Given the description of an element on the screen output the (x, y) to click on. 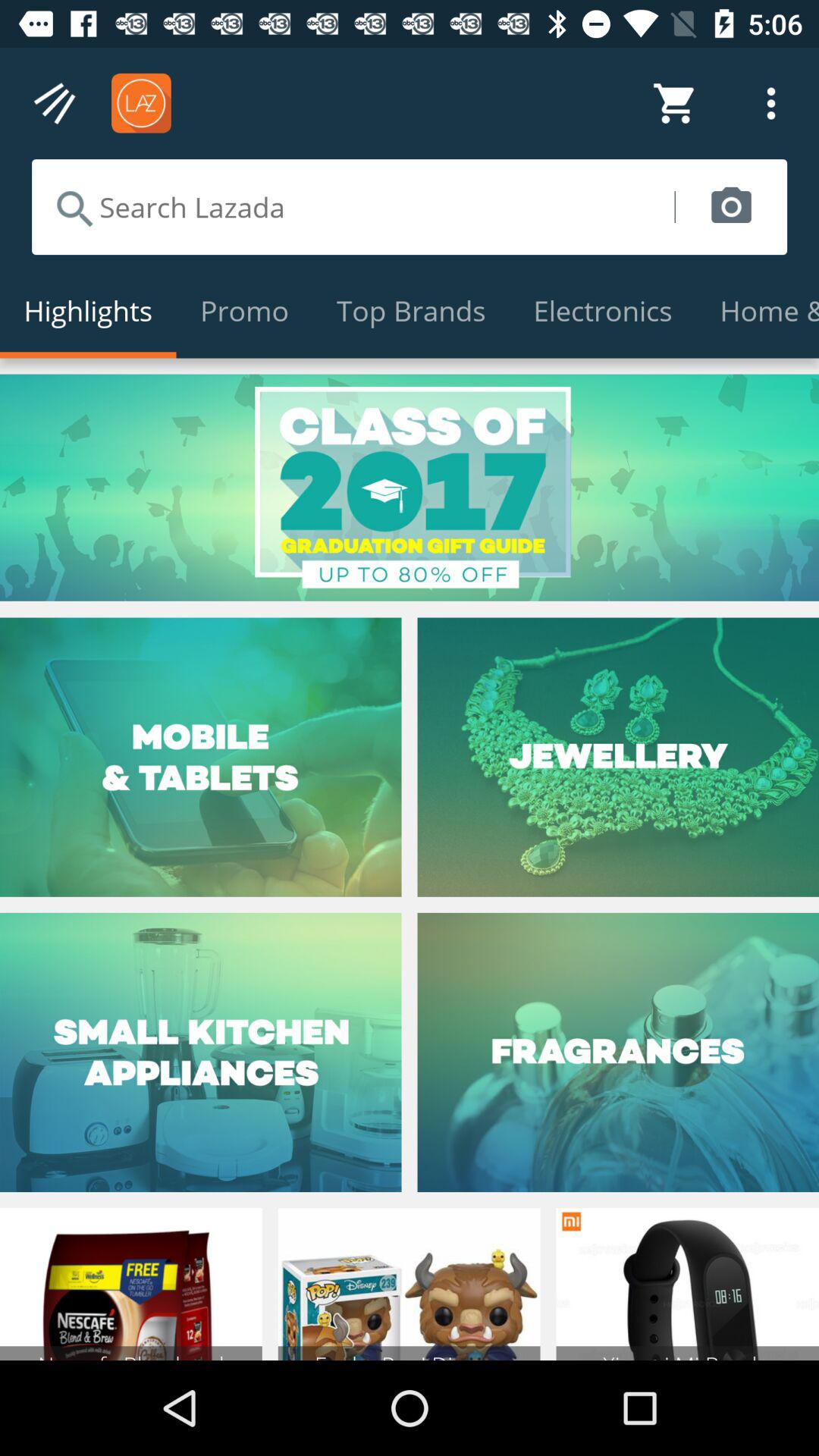
select search bar (352, 206)
